Given the description of an element on the screen output the (x, y) to click on. 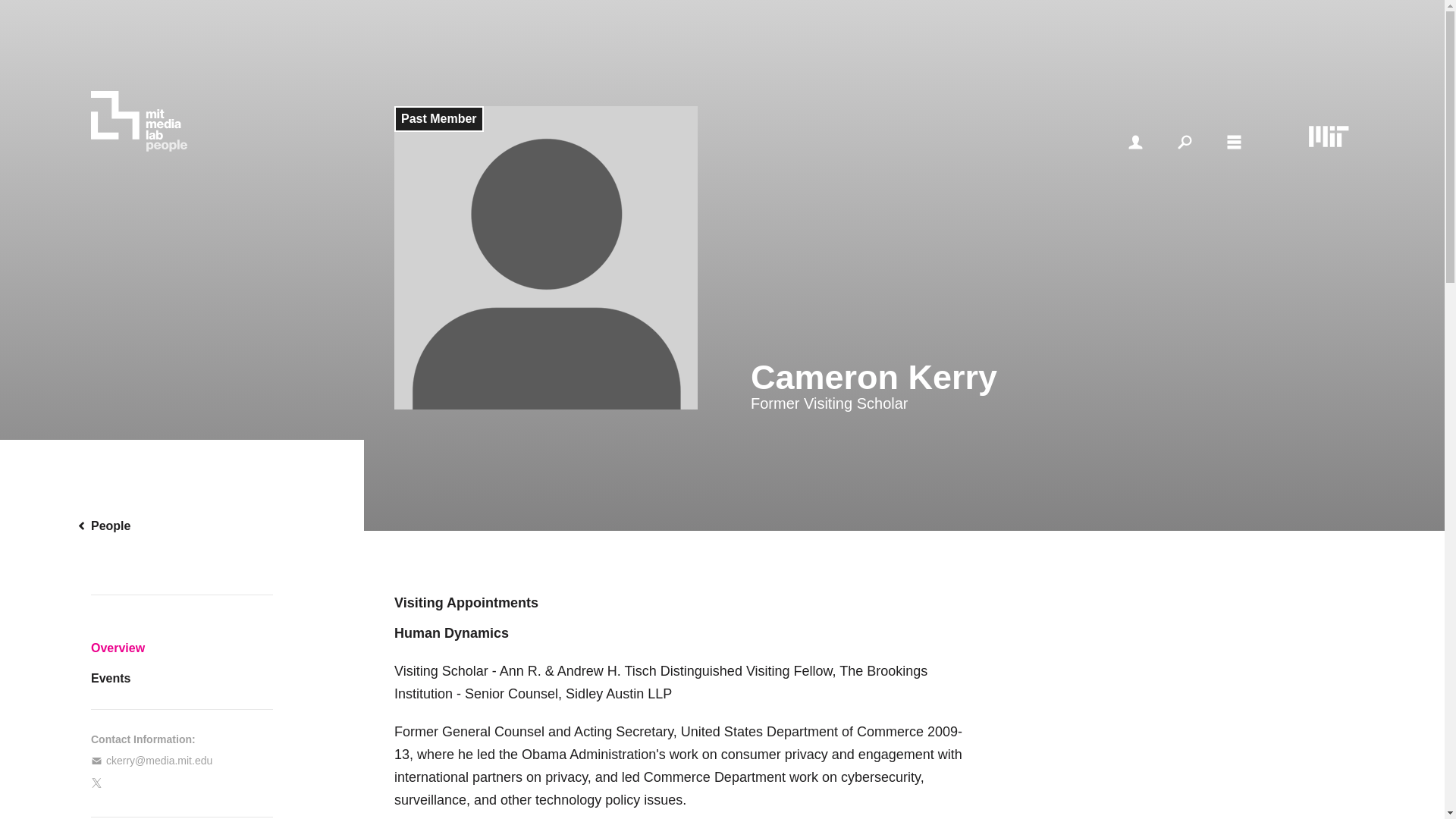
Events (181, 678)
Overview (181, 648)
People (181, 525)
